Given the description of an element on the screen output the (x, y) to click on. 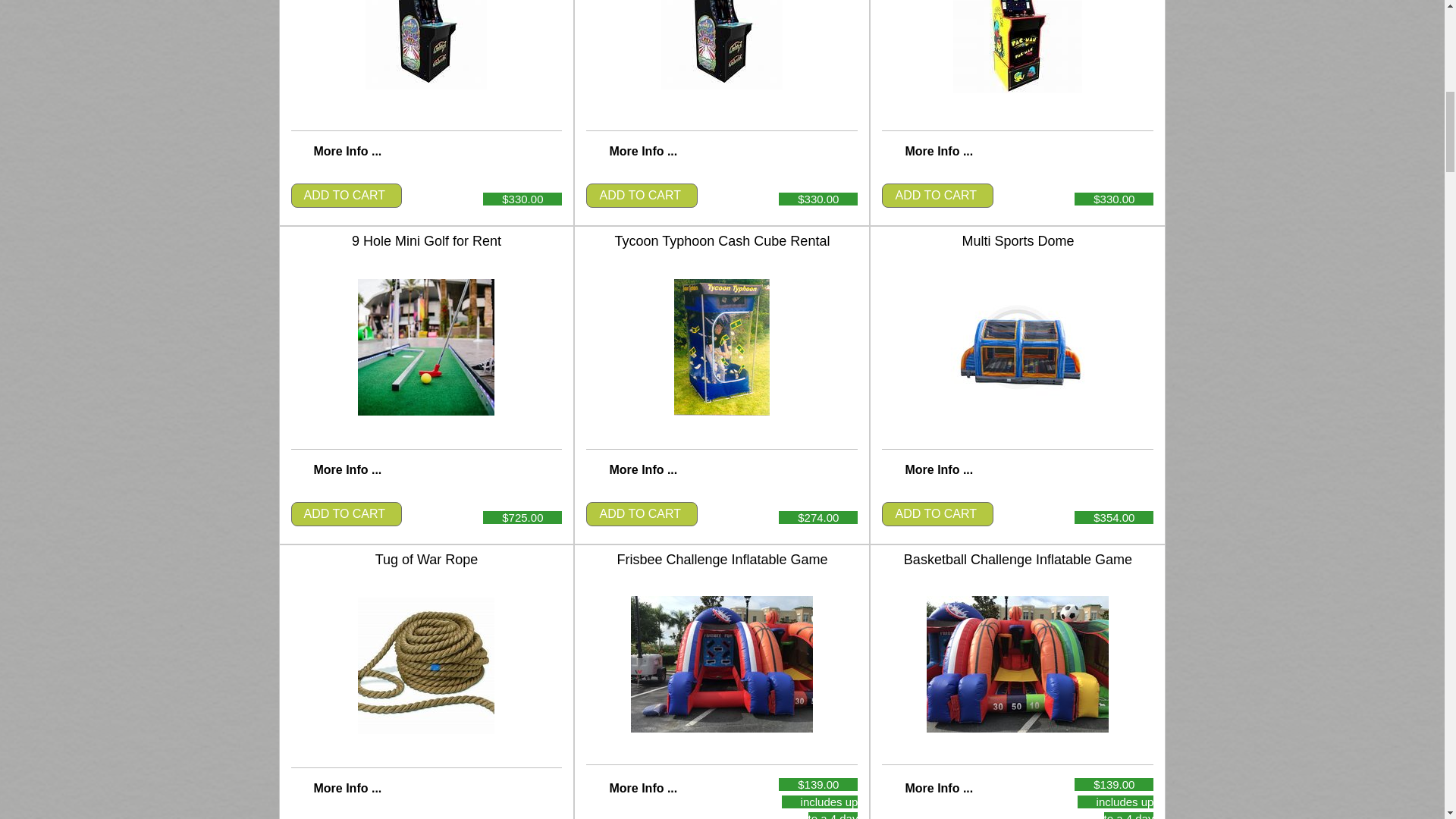
More Info ... (938, 469)
More Info ... (347, 151)
More Info ... (347, 469)
Pacman Arcade Game (1017, 46)
More Info ... (347, 788)
Tug of War Rope  (426, 665)
More Info ... (938, 151)
Galaga Arcade Game  (425, 44)
More Info ... (938, 788)
Frisbee Challenge Inflatable Game (721, 664)
More Info ... (642, 469)
More Info ... (642, 151)
More Info ... (642, 788)
9 Hole Mini Golf for Rent (426, 347)
Multi Sports Dome (1017, 346)
